Given the description of an element on the screen output the (x, y) to click on. 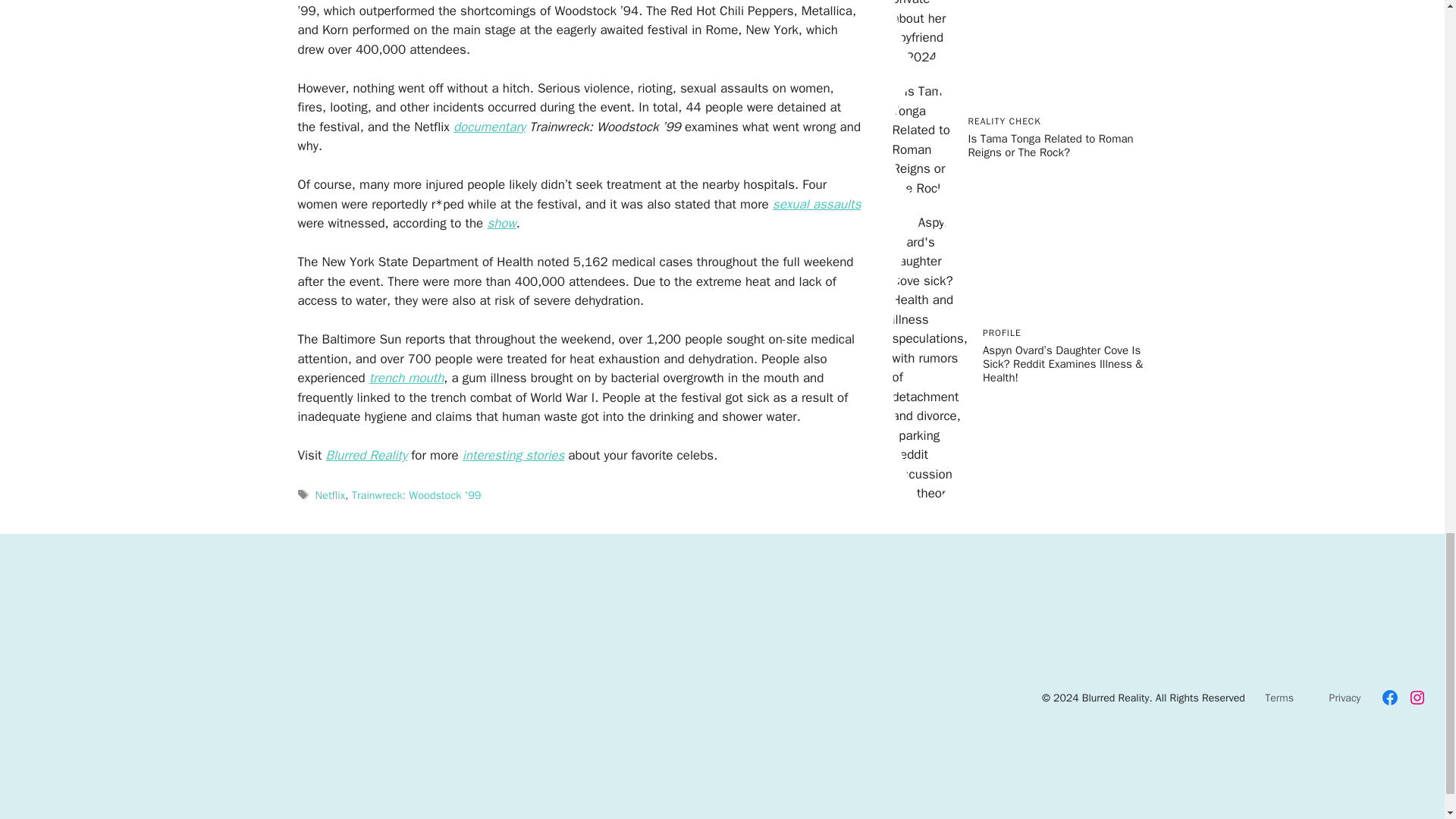
show (500, 222)
Netflix (330, 495)
documentary (488, 126)
Trainwreck: Woodstock '99 (416, 495)
trench mouth (406, 377)
sexual assaults (816, 204)
Blurred Reality (366, 455)
interesting stories (513, 455)
